Given the description of an element on the screen output the (x, y) to click on. 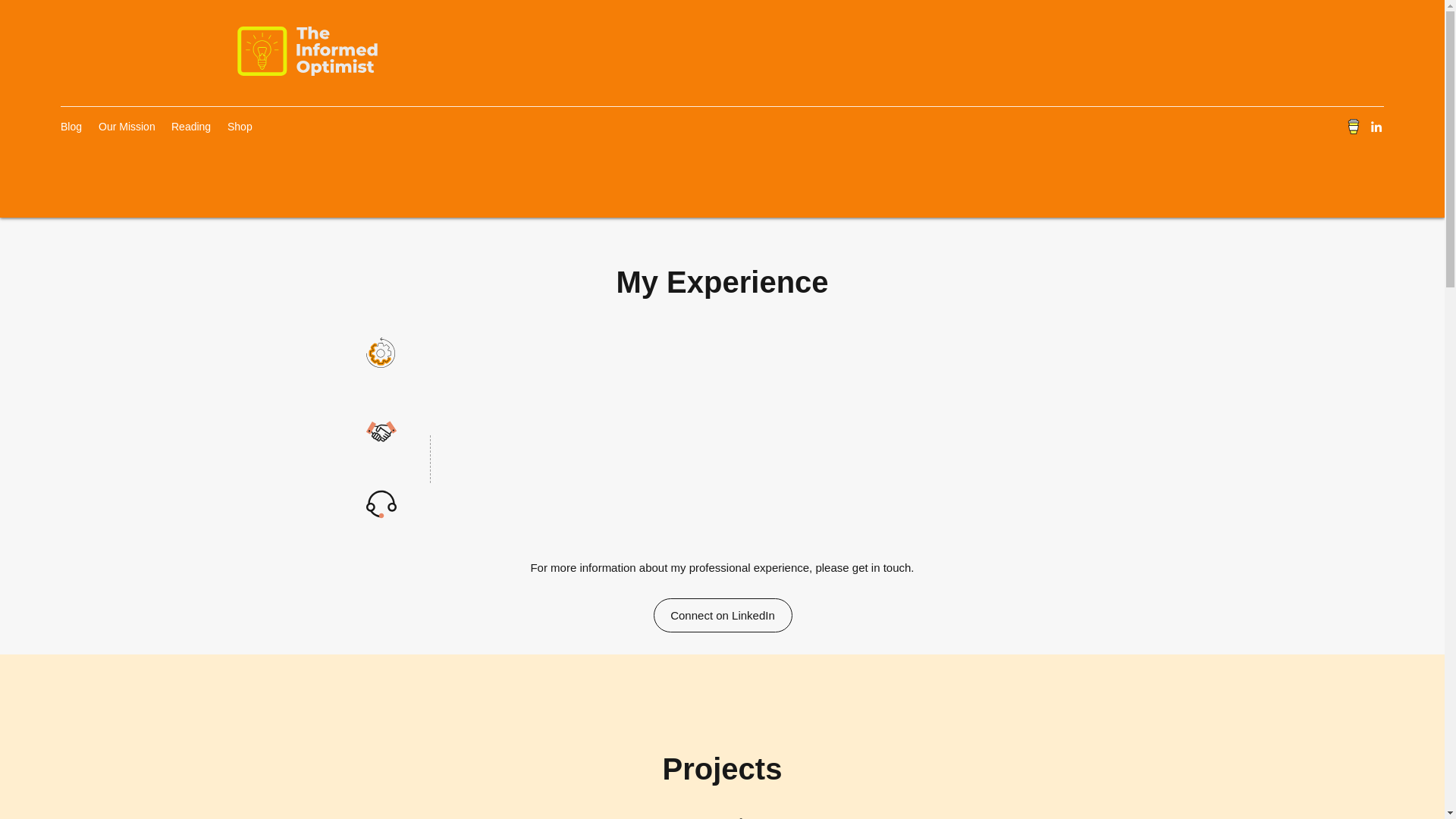
Connect on LinkedIn (722, 615)
Our Mission (126, 126)
Shop (239, 126)
Blog (71, 126)
Reading (191, 126)
